Given the description of an element on the screen output the (x, y) to click on. 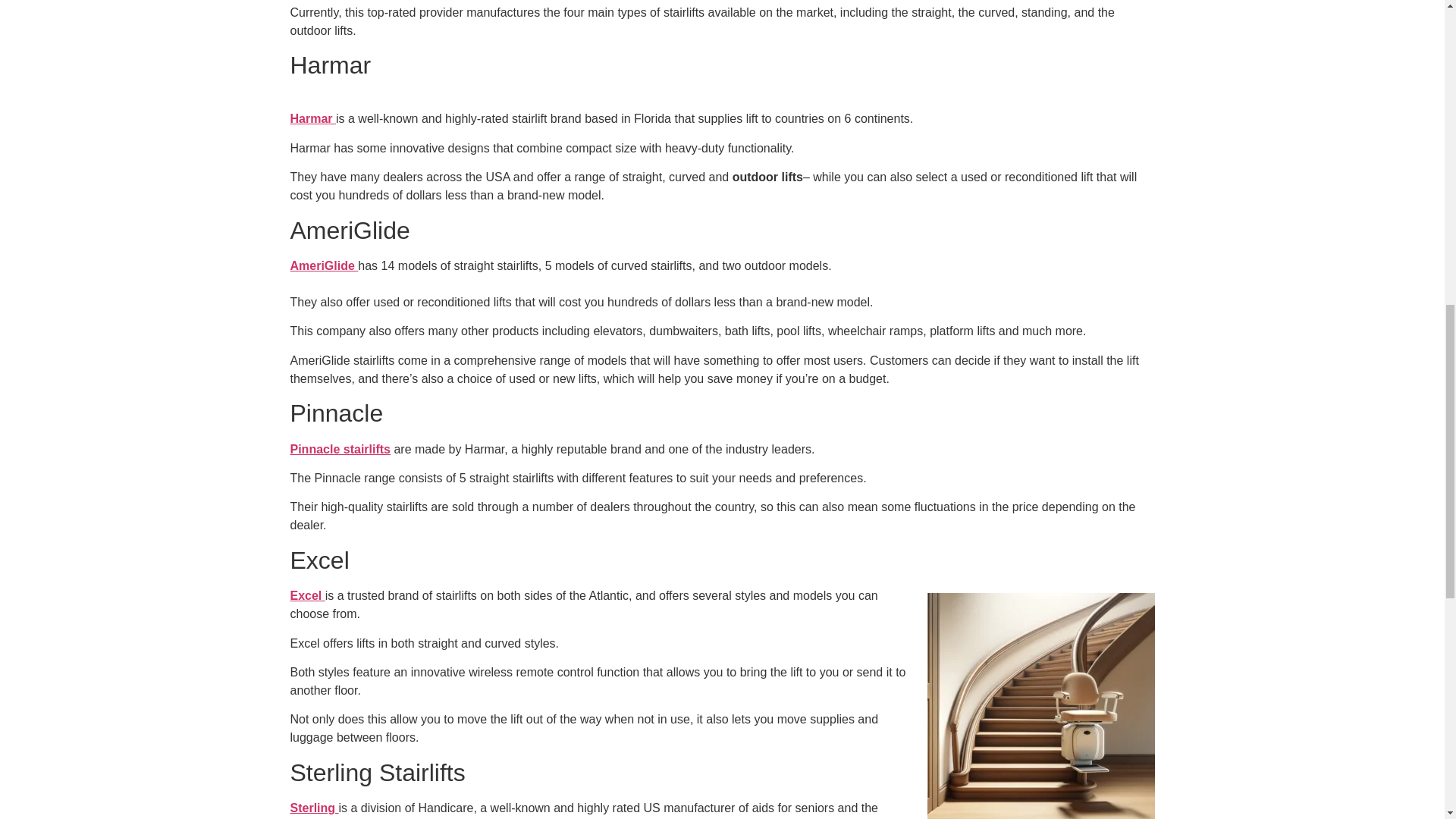
Harmar (311, 118)
Excel (306, 594)
AmeriGlide (323, 265)
Sterling (313, 807)
Pinnacle stairlifts (339, 449)
